Given the description of an element on the screen output the (x, y) to click on. 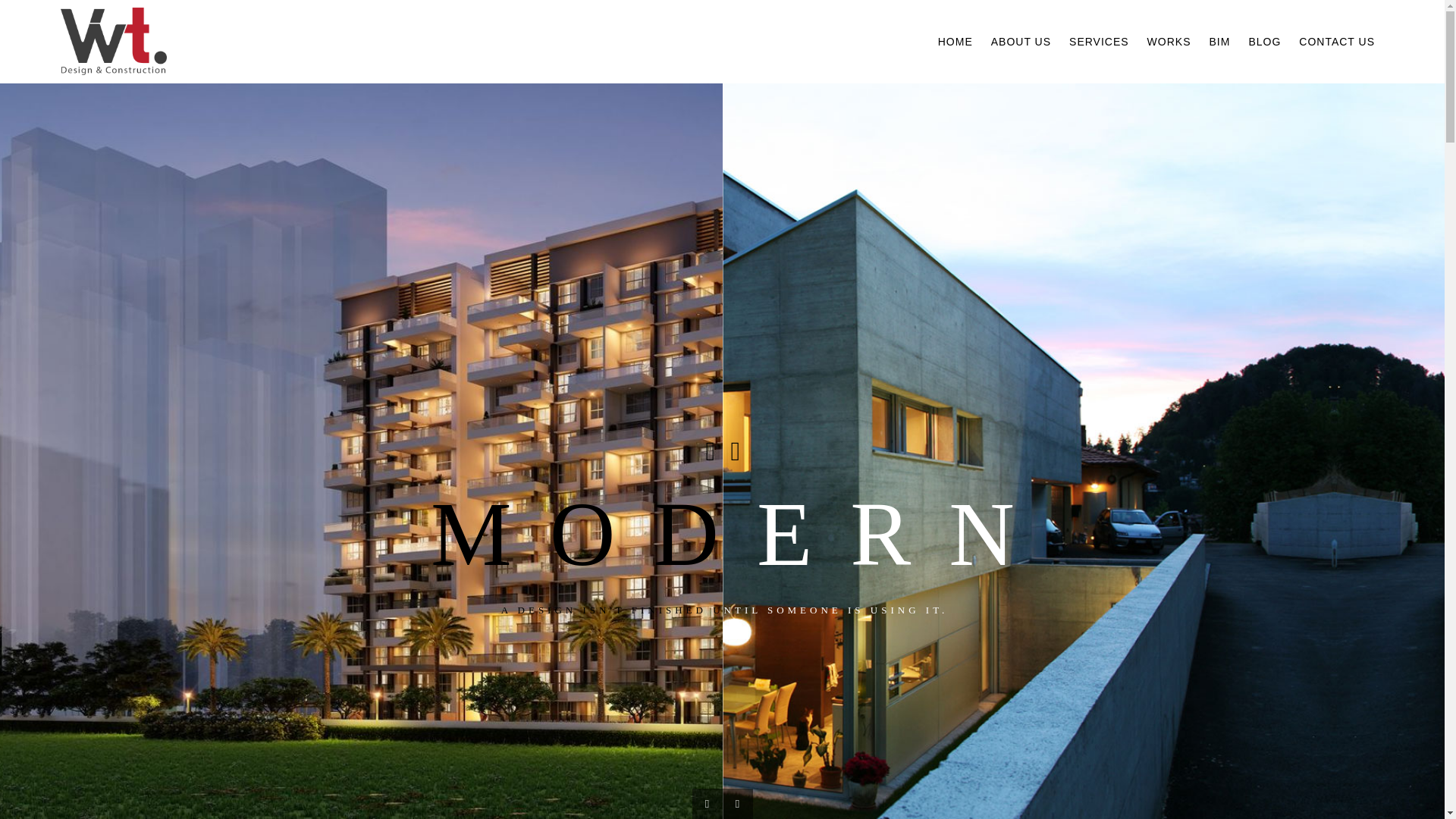
CONTACT US (1337, 41)
ABOUT US (1020, 41)
SERVICES (1098, 41)
WORKS (1168, 41)
